Given the description of an element on the screen output the (x, y) to click on. 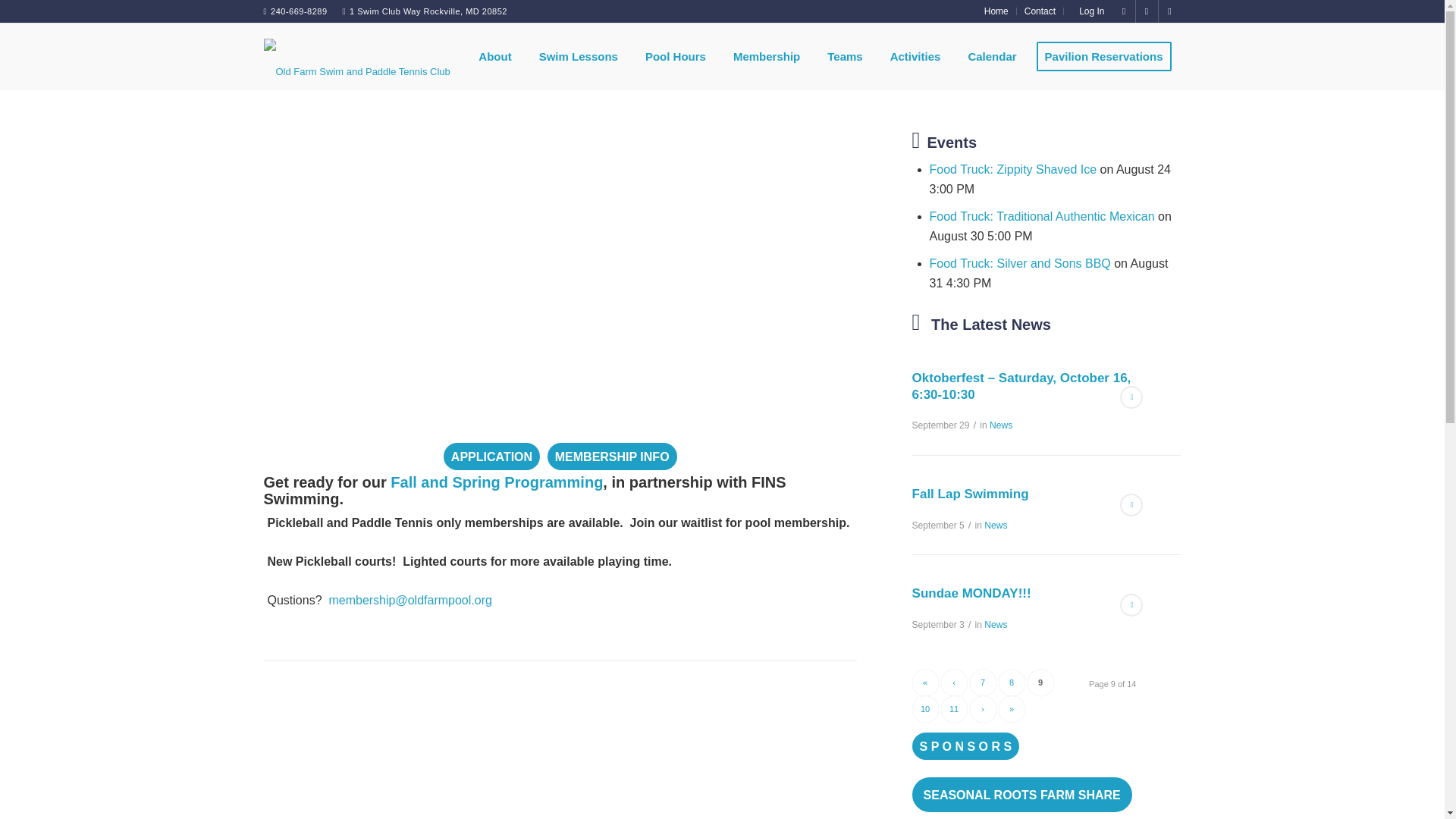
About (491, 56)
Teams (840, 56)
Swim Lessons (574, 56)
Permanent Link: Fall Lap Swimming (970, 493)
Membership (762, 56)
Pool Hours (671, 56)
logo-bl (356, 56)
Facebook (1124, 11)
Contact (1040, 11)
logo-bl (356, 69)
